Given the description of an element on the screen output the (x, y) to click on. 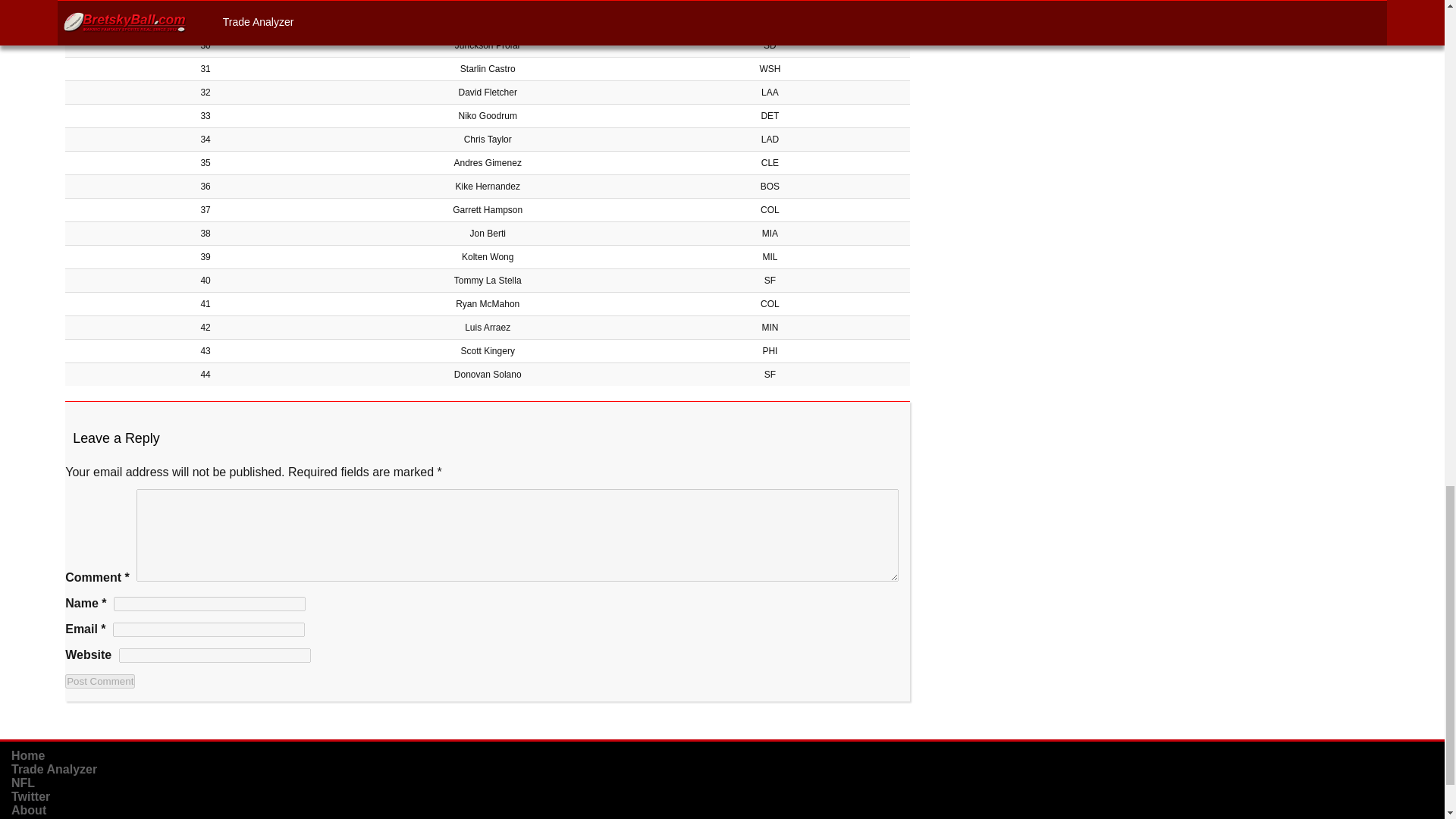
Home (28, 755)
Post Comment (100, 681)
Twitter (30, 796)
Post Comment (100, 681)
Trade Analyzer (54, 768)
NFL (22, 782)
About (28, 809)
